Given the description of an element on the screen output the (x, y) to click on. 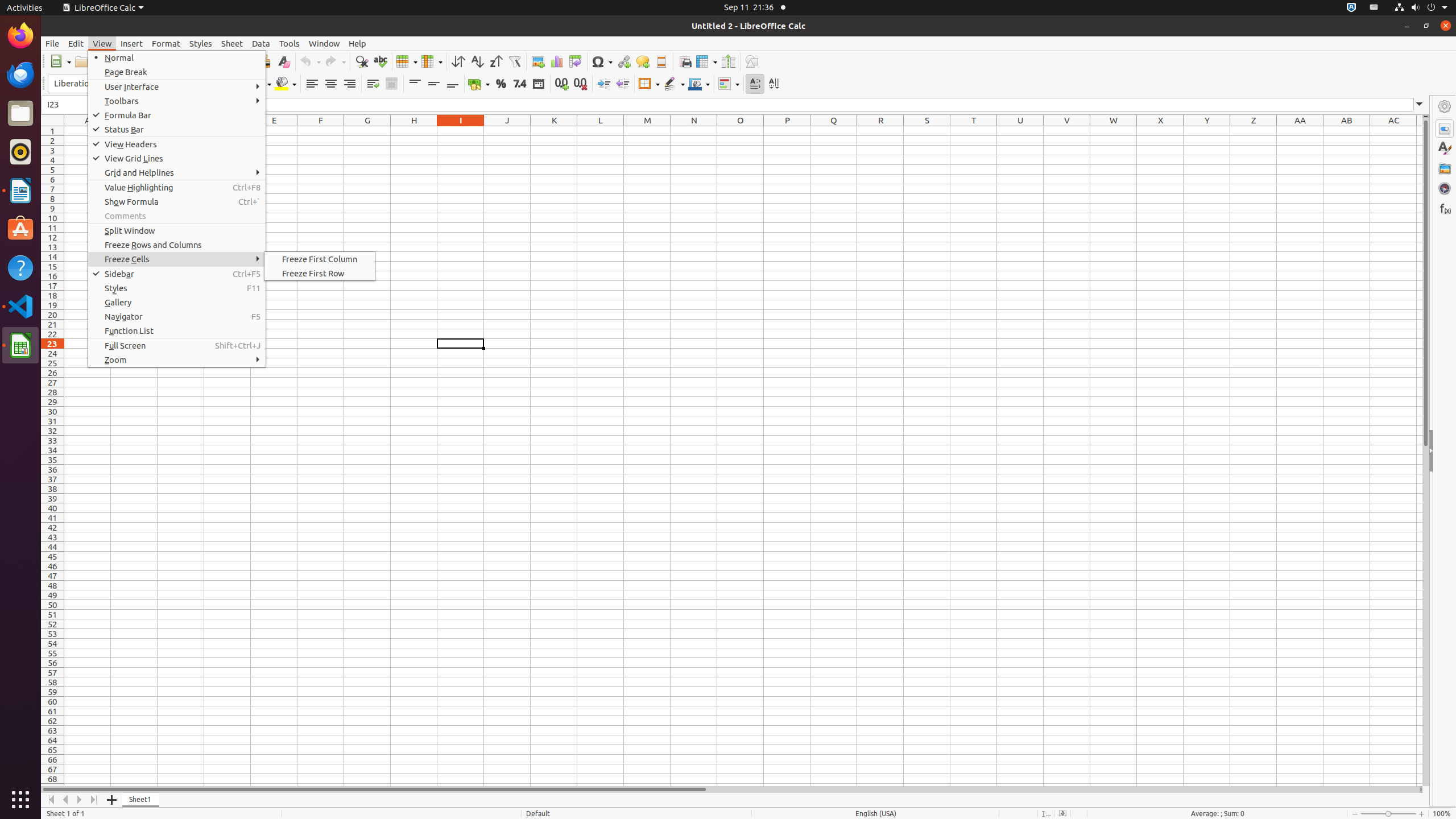
I1 Element type: table-cell (460, 130)
Status Bar Element type: check-menu-item (176, 129)
Grid and Helplines Element type: menu (176, 172)
Align Right Element type: push-button (349, 83)
N1 Element type: table-cell (693, 130)
